Given the description of an element on the screen output the (x, y) to click on. 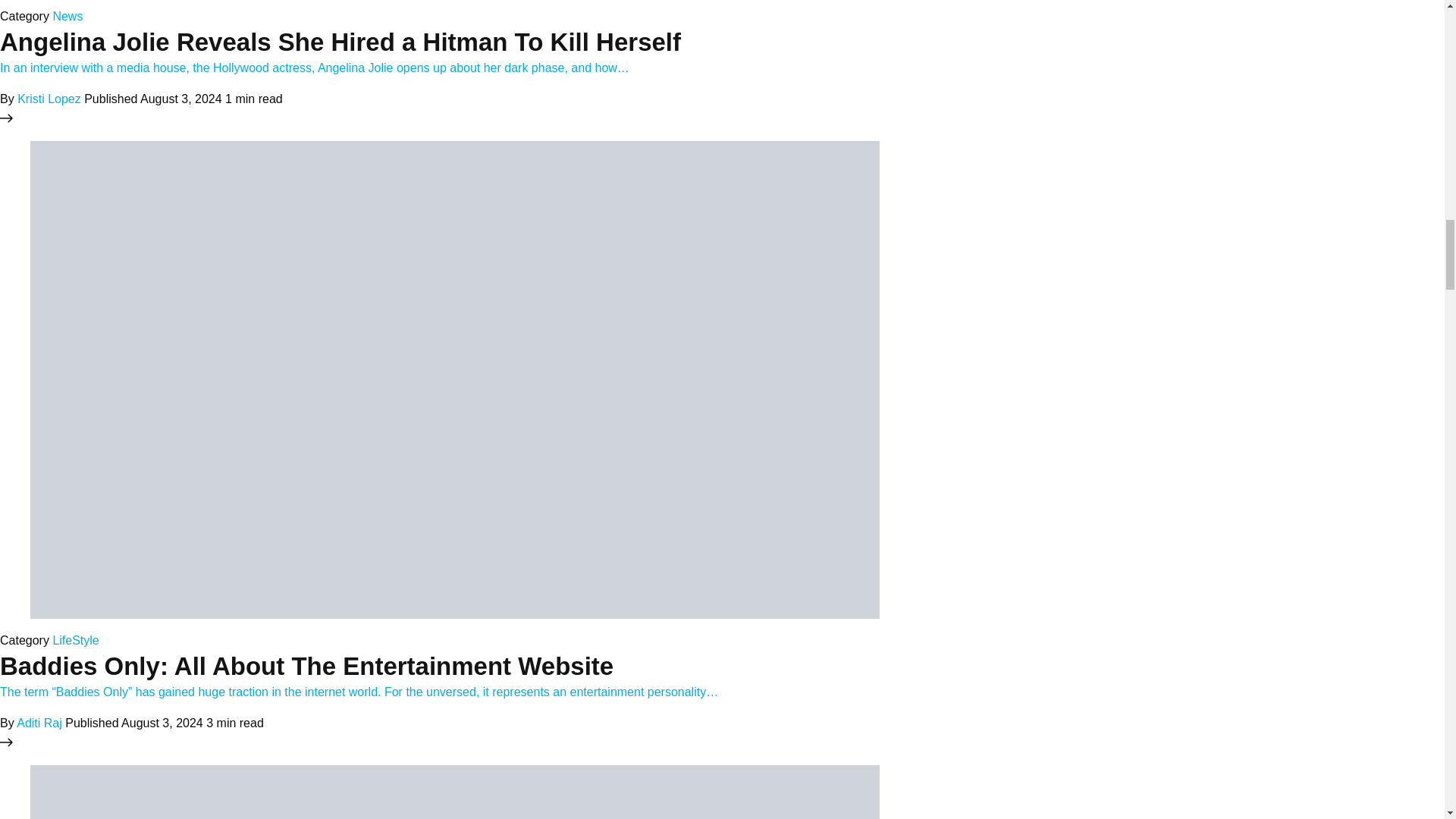
News (67, 15)
Kristi Lopez (49, 98)
LifeStyle (75, 640)
Aditi Raj (39, 721)
